Given the description of an element on the screen output the (x, y) to click on. 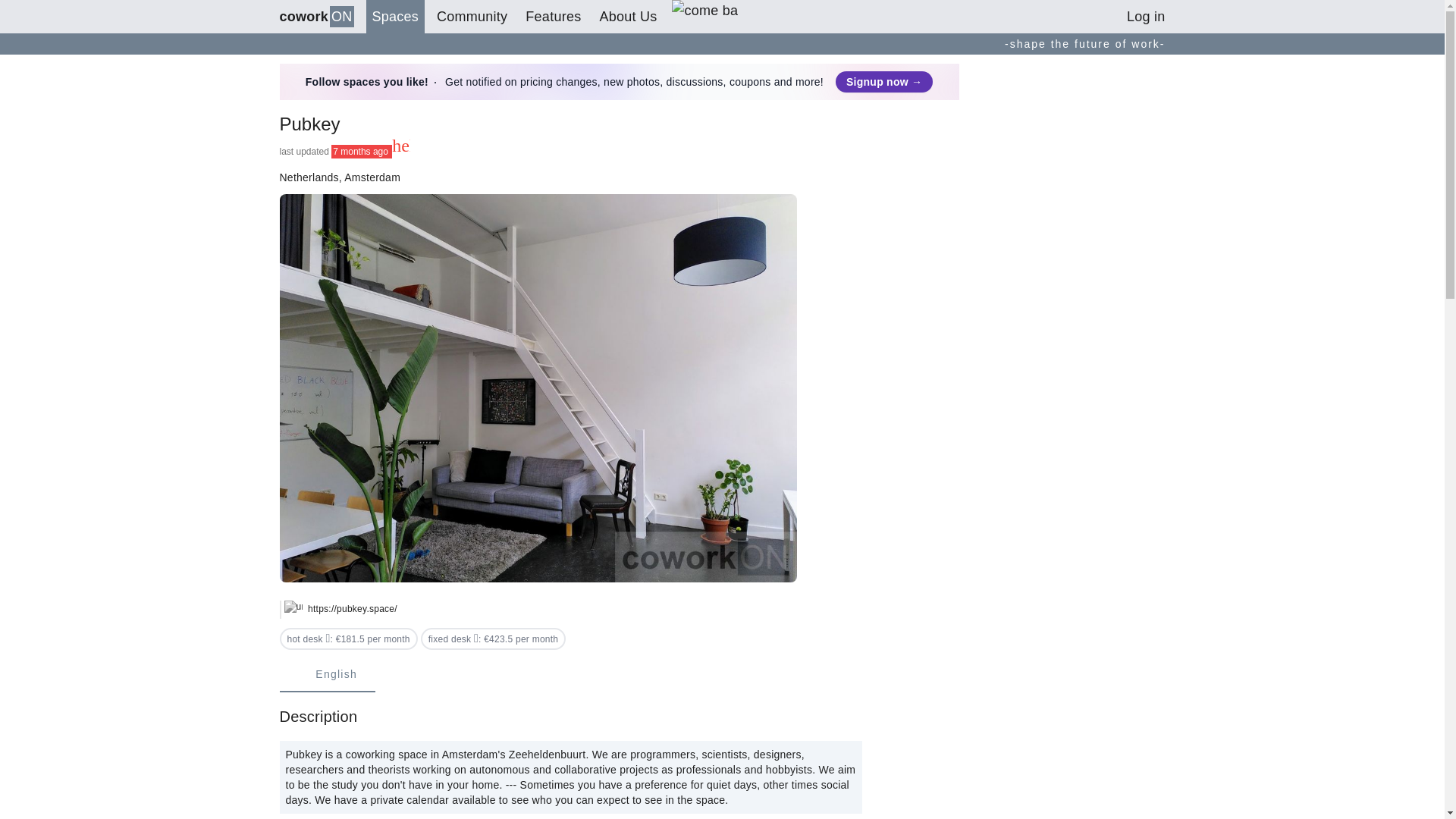
Features (552, 16)
coworkON (316, 16)
About Us (627, 16)
Community (471, 16)
Spaces (395, 16)
Log in (1146, 16)
